Given the description of an element on the screen output the (x, y) to click on. 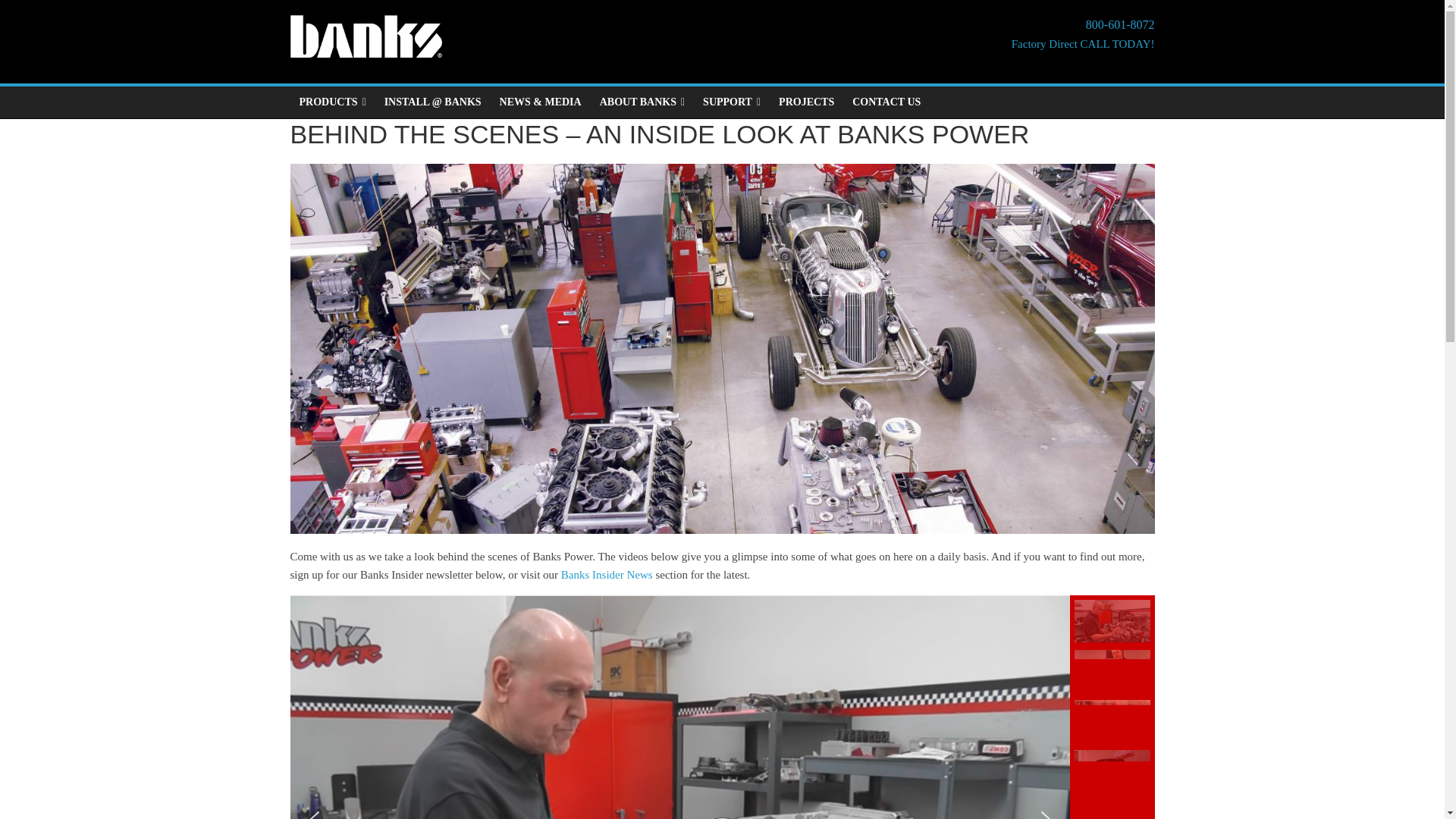
PROJECTS (806, 101)
call us (1082, 35)
PRODUCTS (331, 101)
SUPPORT (732, 101)
CONTACT US (886, 101)
ABOUT BANKS (1082, 35)
